Given the description of an element on the screen output the (x, y) to click on. 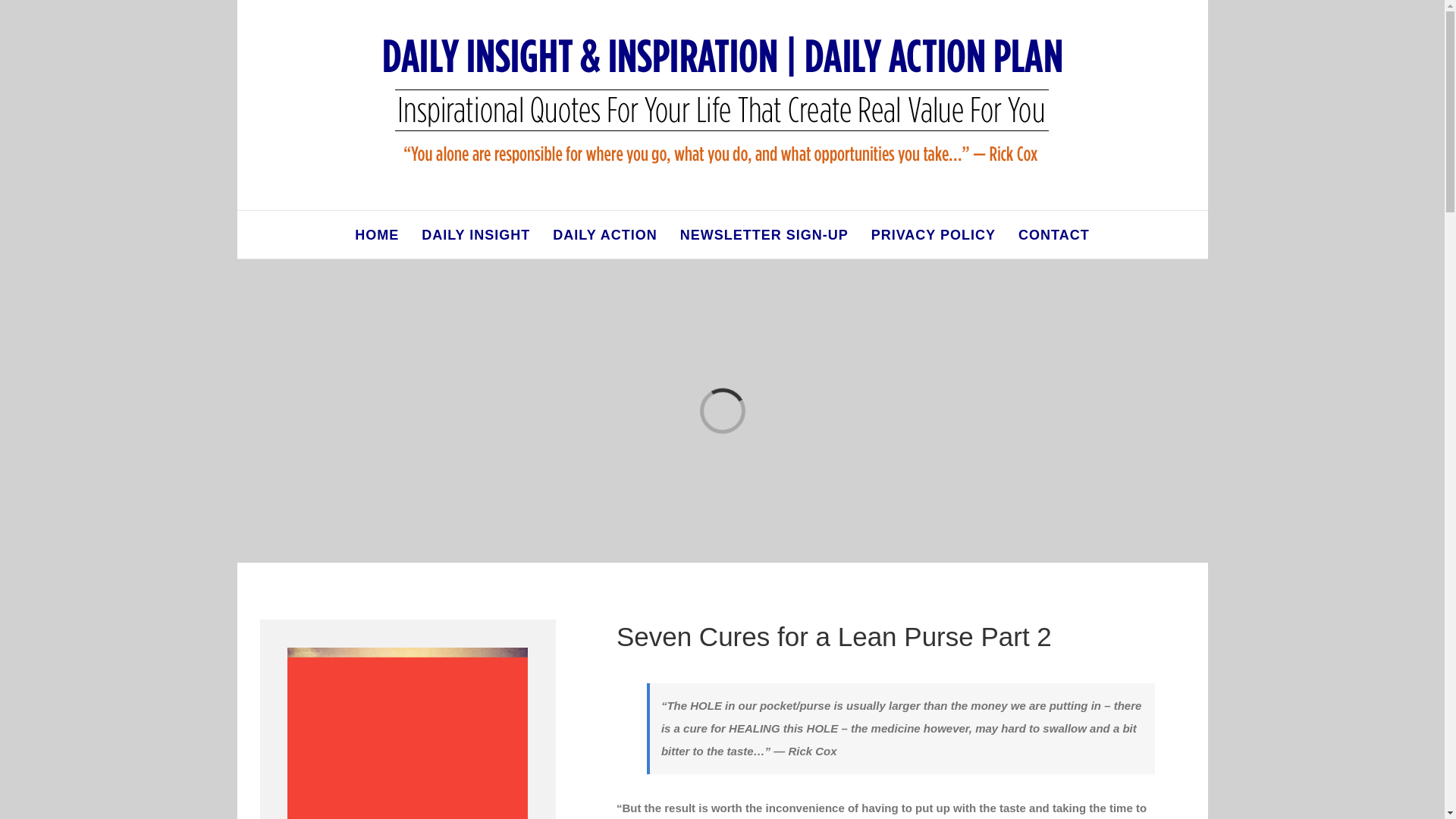
PRIVACY POLICY (932, 234)
CONTACT (1053, 234)
NEWSLETTER SIGN-UP (763, 234)
HOME (376, 234)
DAILY INSIGHT (475, 234)
DAILY ACTION (604, 234)
